Given the description of an element on the screen output the (x, y) to click on. 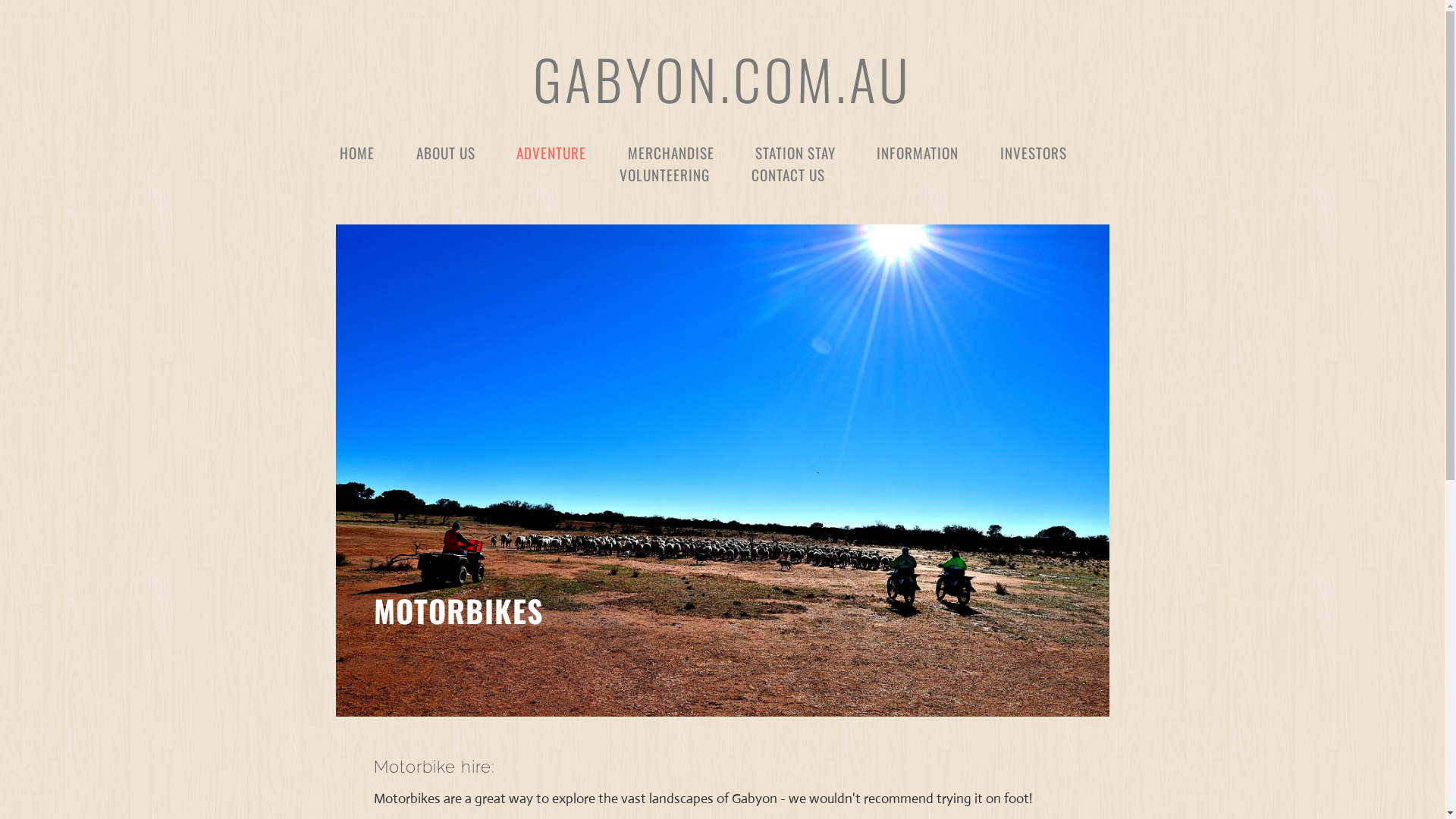
MERCHANDISE Element type: text (670, 152)
VOLUNTEERING Element type: text (664, 174)
ABOUT US Element type: text (445, 152)
HOME Element type: text (356, 152)
STATION STAY Element type: text (795, 152)
INVESTORS Element type: text (1033, 152)
ADVENTURE Element type: text (551, 152)
GABYON.COM.AU Element type: text (721, 78)
INFORMATION Element type: text (917, 152)
CONTACT US Element type: text (788, 174)
